Given the description of an element on the screen output the (x, y) to click on. 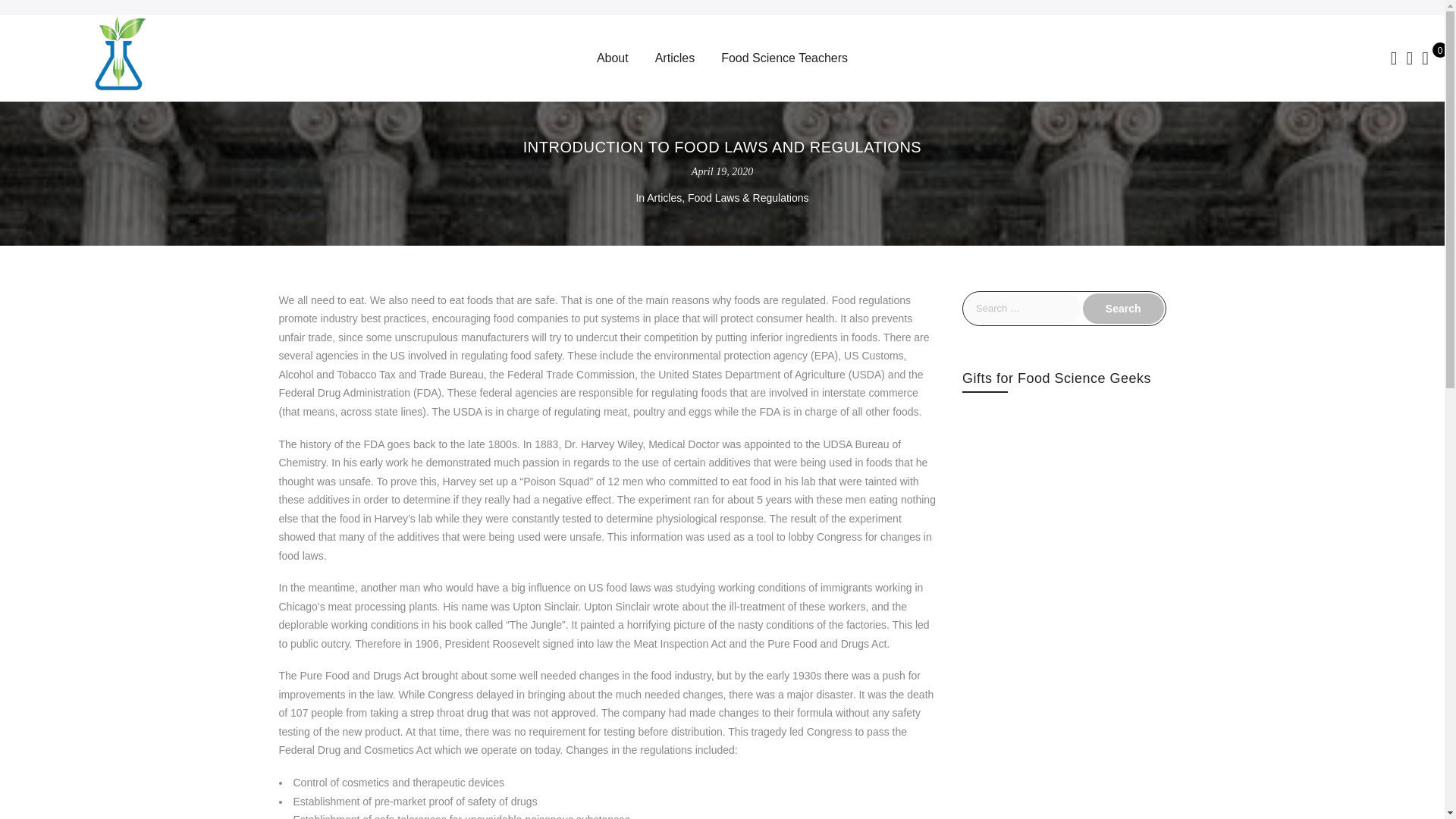
About (612, 57)
Articles (674, 57)
Search (1123, 308)
Articles (663, 197)
Food Science Teachers (783, 57)
Search (1123, 308)
